Given the description of an element on the screen output the (x, y) to click on. 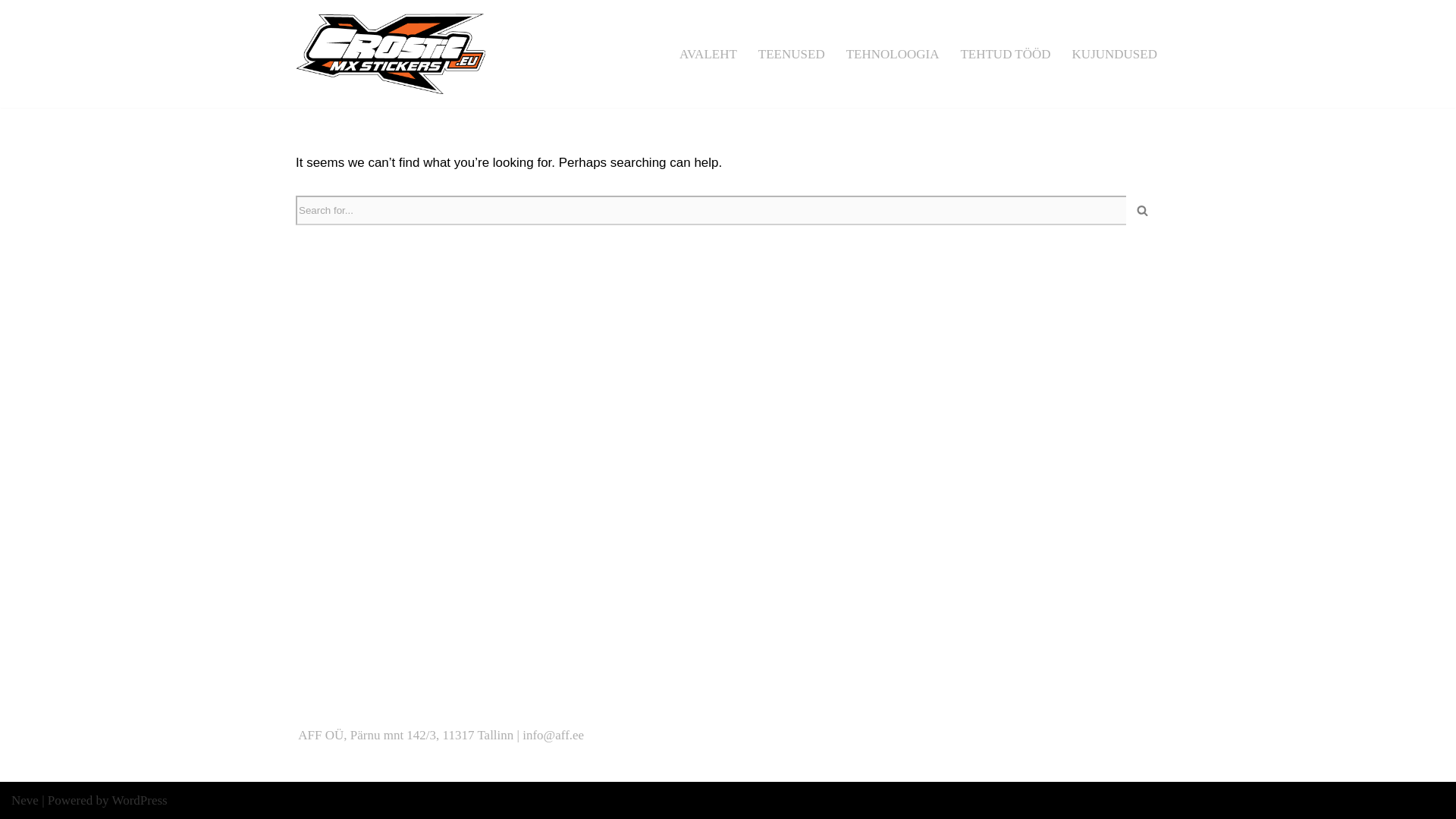
KUJUNDUSED (1114, 53)
WordPress (139, 800)
Skip to content (11, 31)
AVALEHT (707, 53)
TEHNOLOOGIA (892, 53)
Neve (25, 800)
TEENUSED (791, 53)
